Given the description of an element on the screen output the (x, y) to click on. 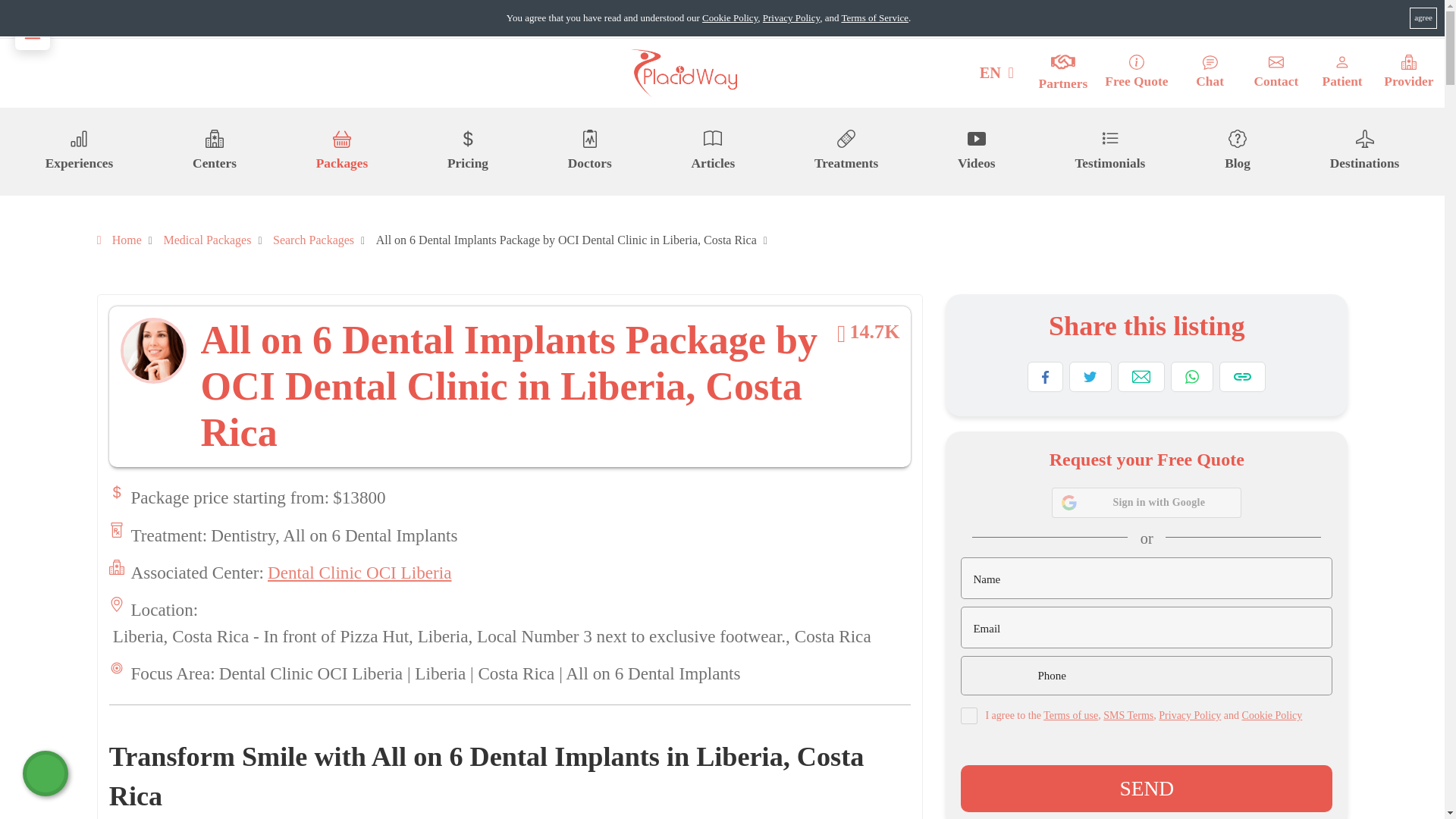
Chat (1210, 72)
Cookie Policy (729, 17)
Doctors (589, 151)
on (968, 715)
agree (1423, 17)
Pricing (466, 151)
Centers (213, 151)
Packages (341, 151)
Patient (1342, 72)
Provider (1408, 72)
Articles (712, 151)
Destinations (1364, 151)
Free Quote (1136, 72)
Contact (1275, 72)
Testimonials (1109, 151)
